Given the description of an element on the screen output the (x, y) to click on. 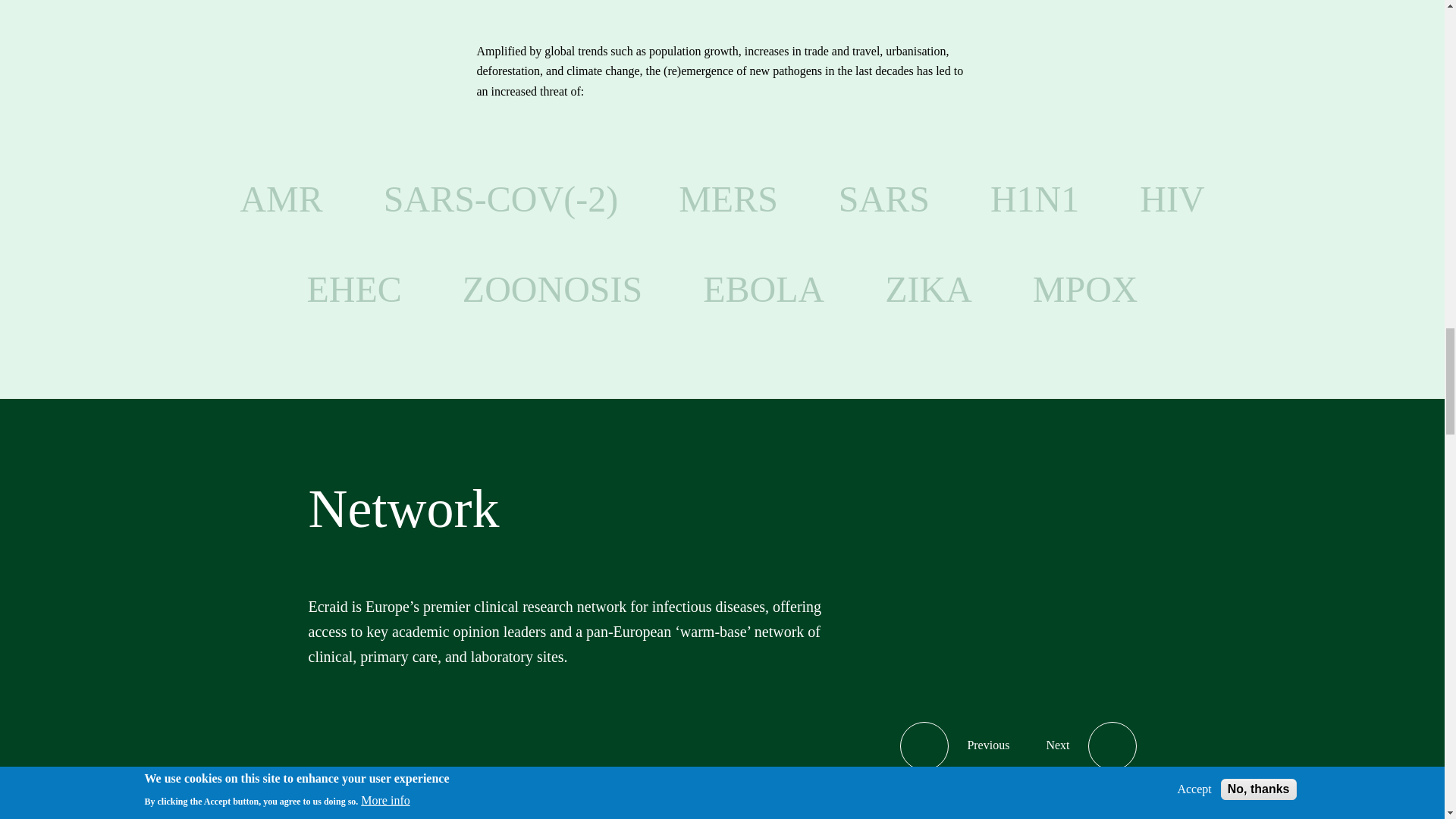
Previous (955, 745)
